Given the description of an element on the screen output the (x, y) to click on. 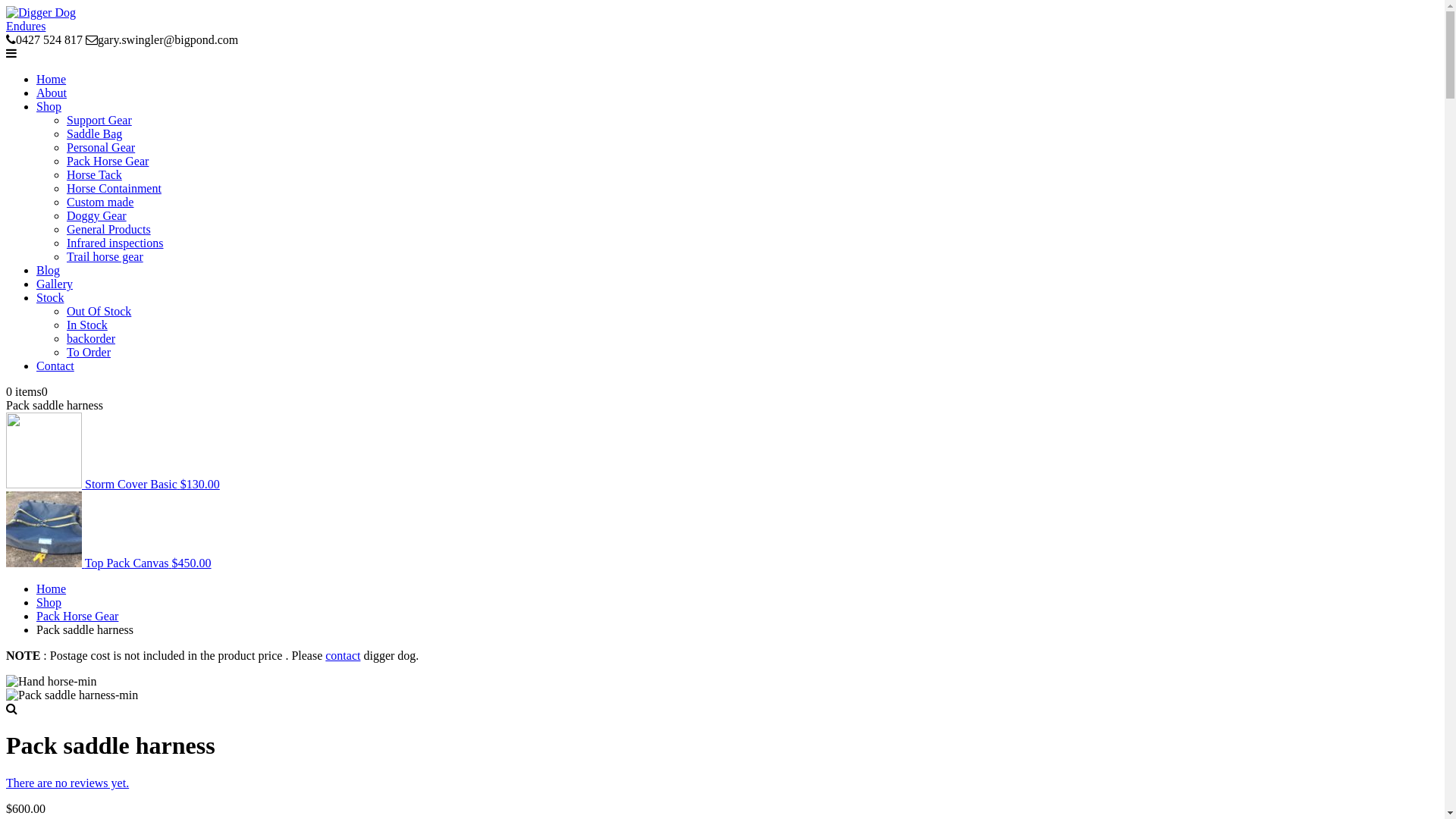
Shop Element type: text (48, 602)
Horse Containment Element type: text (113, 188)
Pack Horse Gear Element type: text (77, 615)
Saddle Bag Element type: text (94, 133)
Contact Element type: text (55, 365)
To Order Element type: text (88, 351)
Top Pack Canvas $450.00 Element type: text (108, 562)
Personal Gear Element type: text (100, 147)
contact Element type: text (342, 655)
Pack Horse Gear Element type: text (107, 160)
Custom made Element type: text (99, 201)
Trail horse gear Element type: text (104, 256)
Storm Cover Basic $130.00 Element type: text (112, 483)
Infrared inspections Element type: text (114, 242)
Home Element type: text (50, 78)
About Element type: text (51, 92)
Horse Tack Element type: text (94, 174)
There are no reviews yet. Element type: text (67, 782)
In Stock Element type: text (86, 324)
Support Gear Element type: text (98, 119)
Home Element type: text (50, 588)
Gallery Element type: text (54, 283)
backorder Element type: text (90, 338)
Shop Element type: text (48, 106)
Stock Element type: text (49, 297)
Blog Element type: text (47, 269)
Out Of Stock Element type: text (98, 310)
General Products Element type: text (108, 228)
Doggy Gear Element type: text (96, 215)
